Given the description of an element on the screen output the (x, y) to click on. 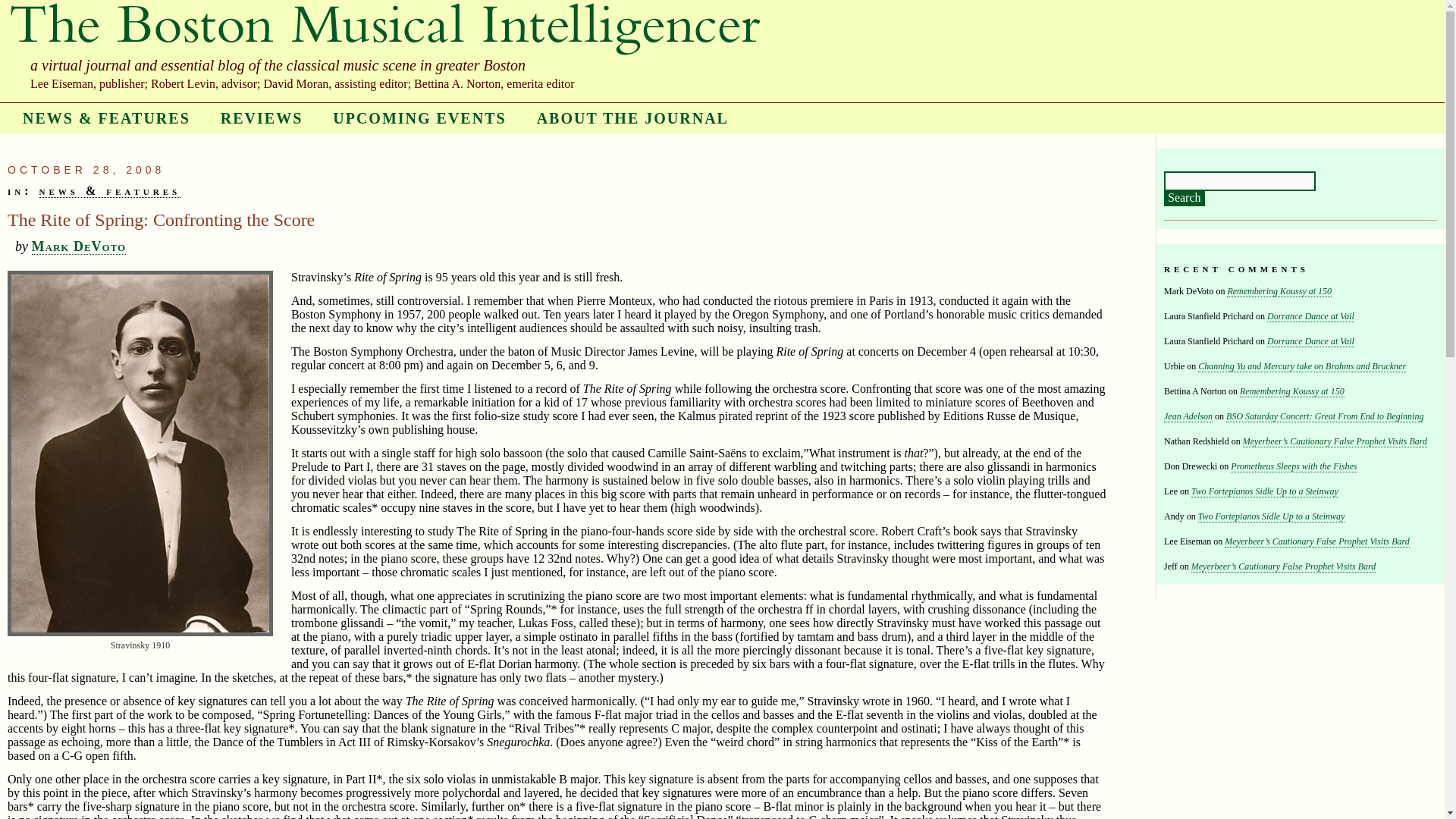
Remembering Koussy at 150 (1291, 391)
Jean Adelson (1187, 416)
ABOUT THE JOURNAL (632, 118)
Search (1184, 198)
Dorrance Dance at Vail (1310, 341)
Remembering Koussy at 150 (1279, 291)
Channing Yu and Mercury take on Brahms and Bruckner (1302, 366)
Search (1184, 198)
Two Fortepianos Sidle Up to a Steinway (1264, 491)
Mark DeVoto (79, 246)
